Given the description of an element on the screen output the (x, y) to click on. 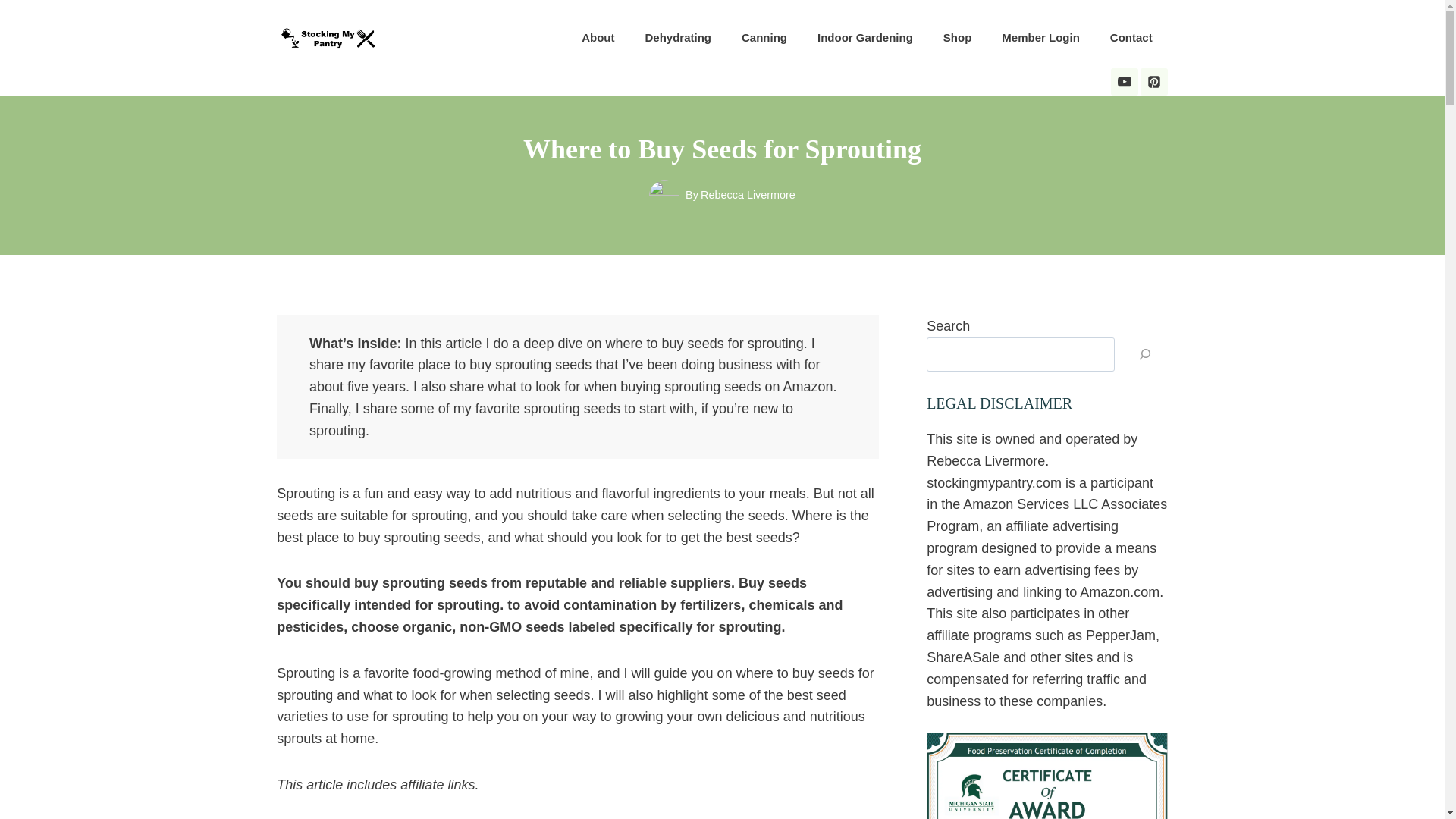
Canning (764, 38)
About (597, 38)
Rebecca Livermore (747, 194)
Contact (1130, 38)
Member Login (1040, 38)
Indoor Gardening (865, 38)
Dehydrating (677, 38)
Shop (957, 38)
